Given the description of an element on the screen output the (x, y) to click on. 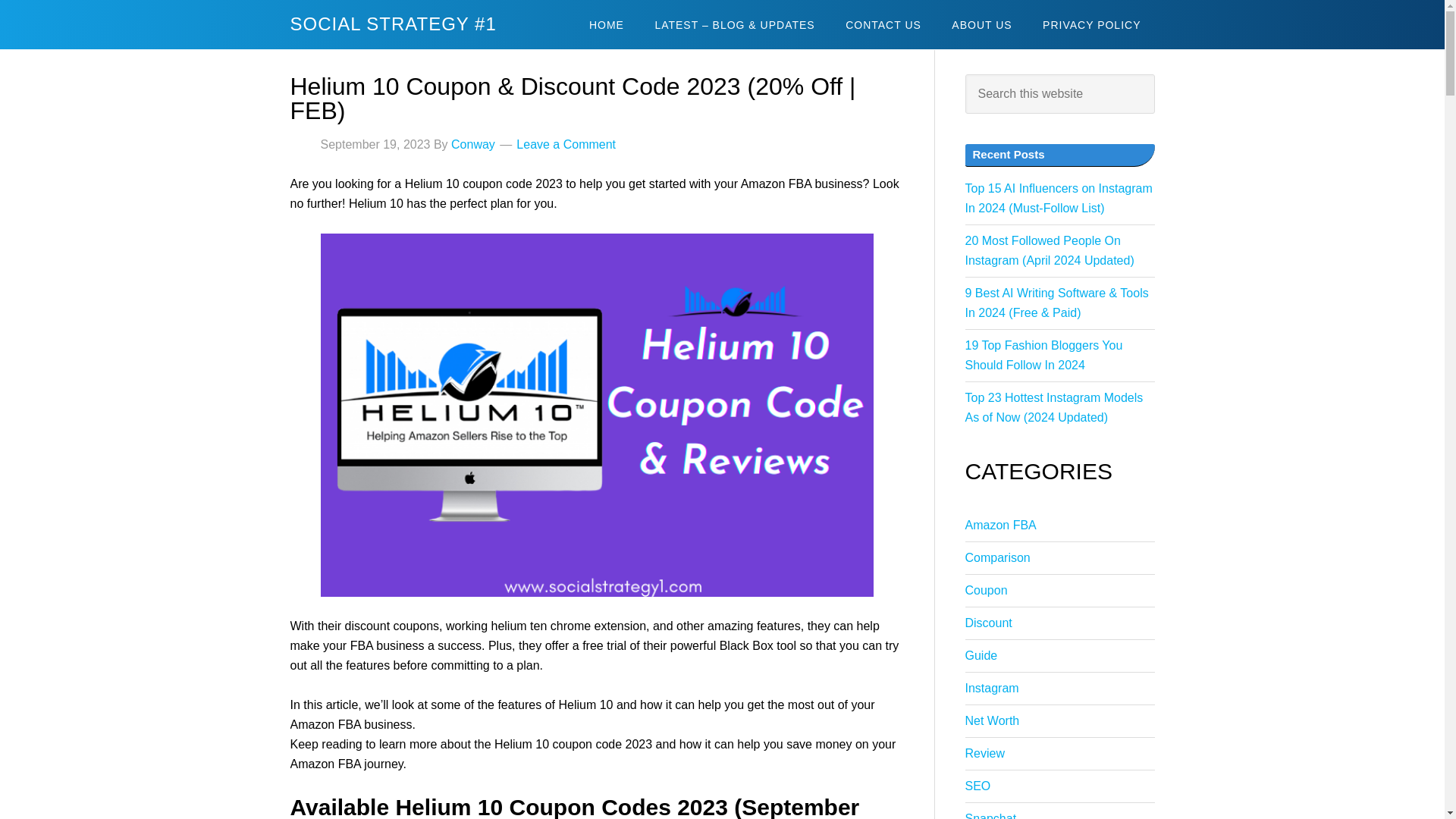
Review (983, 753)
Instagram (990, 687)
Conway (473, 144)
Discount (987, 622)
19 Top Fashion Bloggers You Should Follow In 2024 (1042, 355)
Coupon (985, 590)
Leave a Comment (565, 144)
Comparison (996, 557)
Guide (980, 655)
SEO (976, 785)
Net Worth (991, 720)
